Given the description of an element on the screen output the (x, y) to click on. 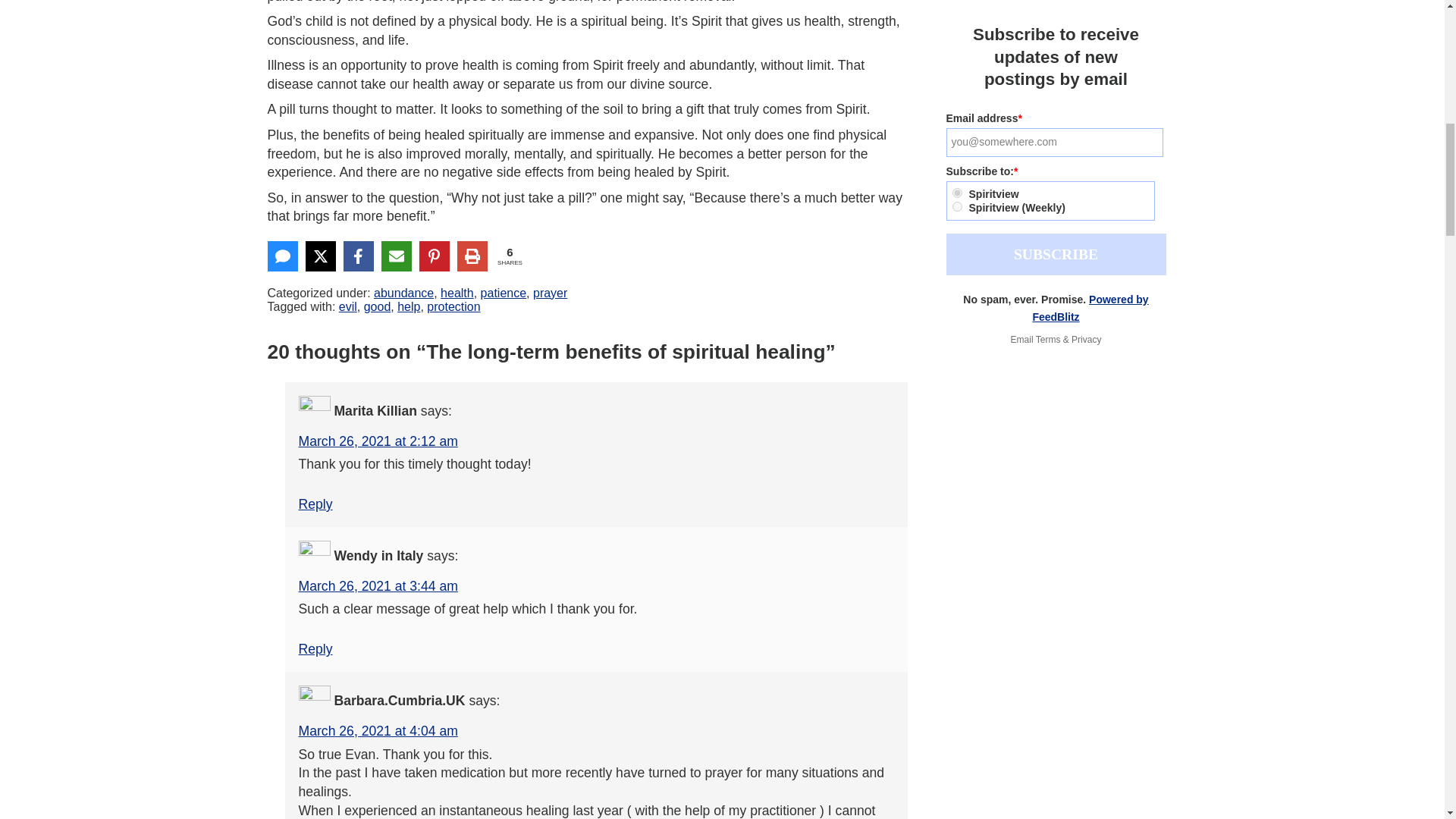
SUBSCRIBE (1056, 254)
March 26, 2021 at 3:44 am (378, 585)
Reply (315, 503)
help (408, 306)
good (377, 306)
evil (347, 306)
click to join (1056, 254)
protection (453, 306)
54920 (957, 193)
Reply (315, 648)
prayer (549, 292)
March 26, 2021 at 4:04 am (378, 730)
Email subscriptions privacy policy (1085, 339)
patience (503, 292)
health (457, 292)
